Given the description of an element on the screen output the (x, y) to click on. 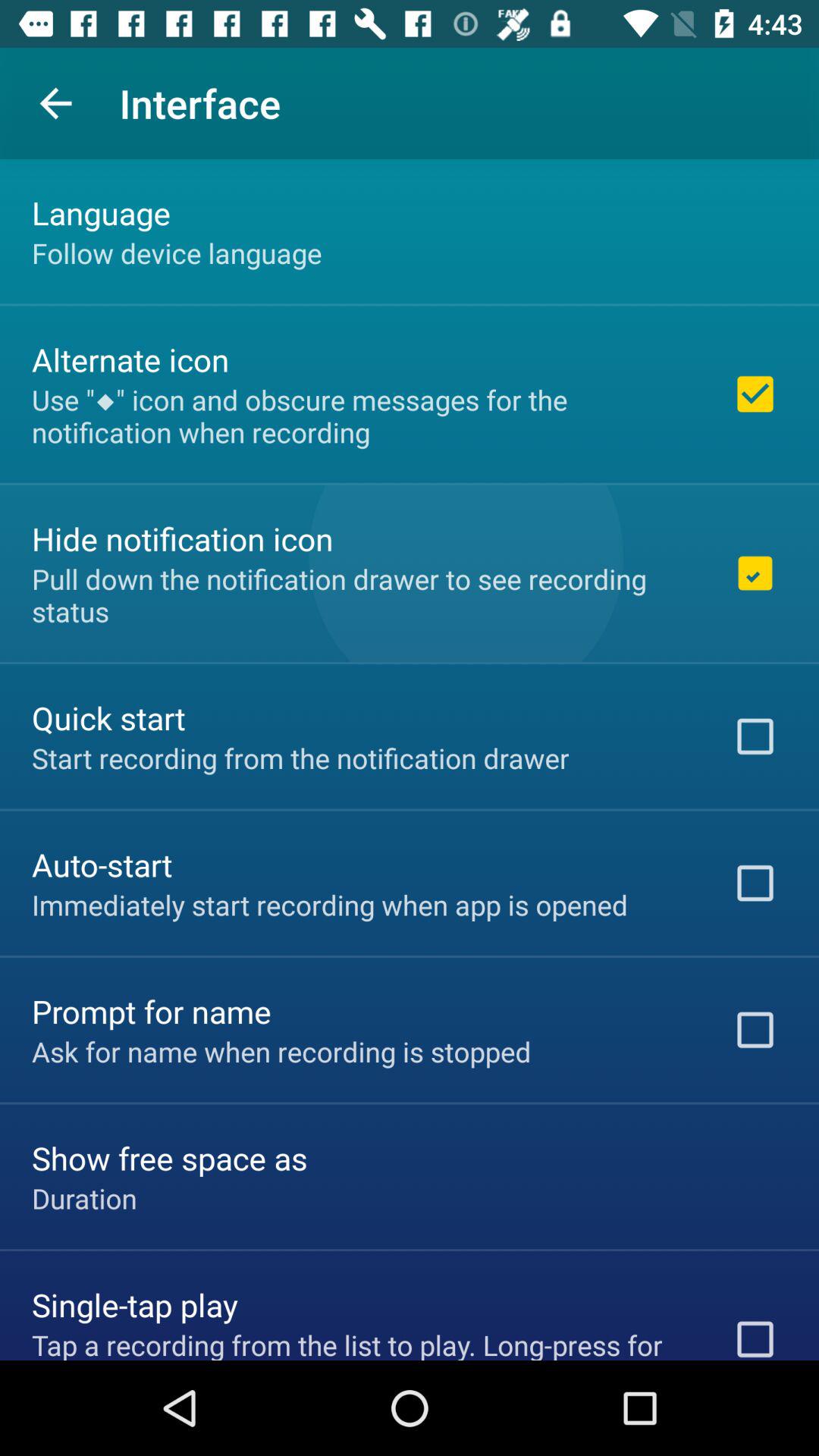
open icon below follow device language icon (130, 359)
